Given the description of an element on the screen output the (x, y) to click on. 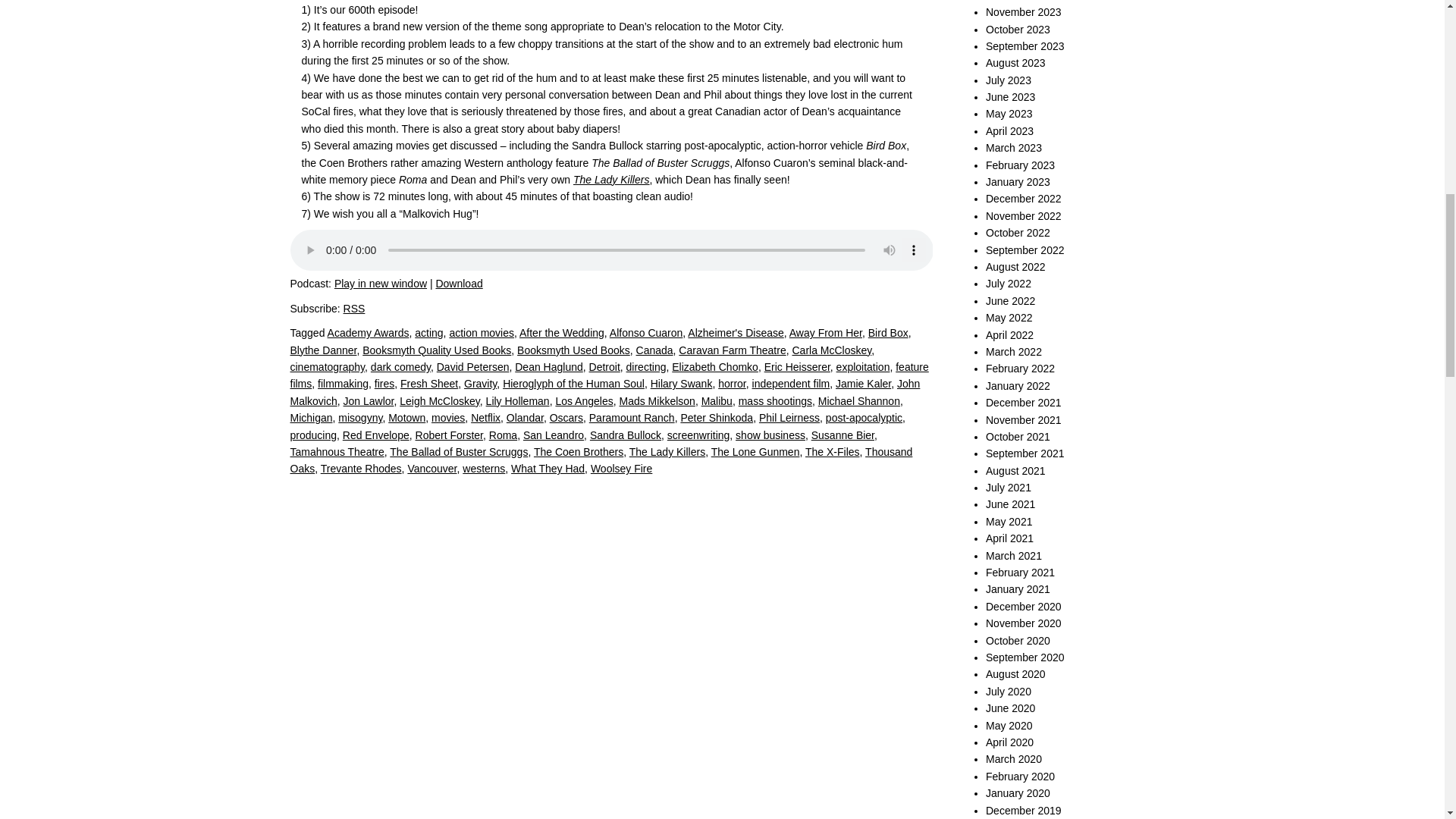
action movies (480, 332)
Dean Haglund (549, 367)
Play in new window (380, 283)
acting (428, 332)
David Petersen (472, 367)
Detroit (604, 367)
feature films (608, 375)
Caravan Farm Theatre (732, 349)
Download (458, 283)
Alfonso Cuaron (646, 332)
After the Wedding (561, 332)
Academy Awards (368, 332)
dark comedy (400, 367)
cinematography (327, 367)
Bird Box (887, 332)
